Given the description of an element on the screen output the (x, y) to click on. 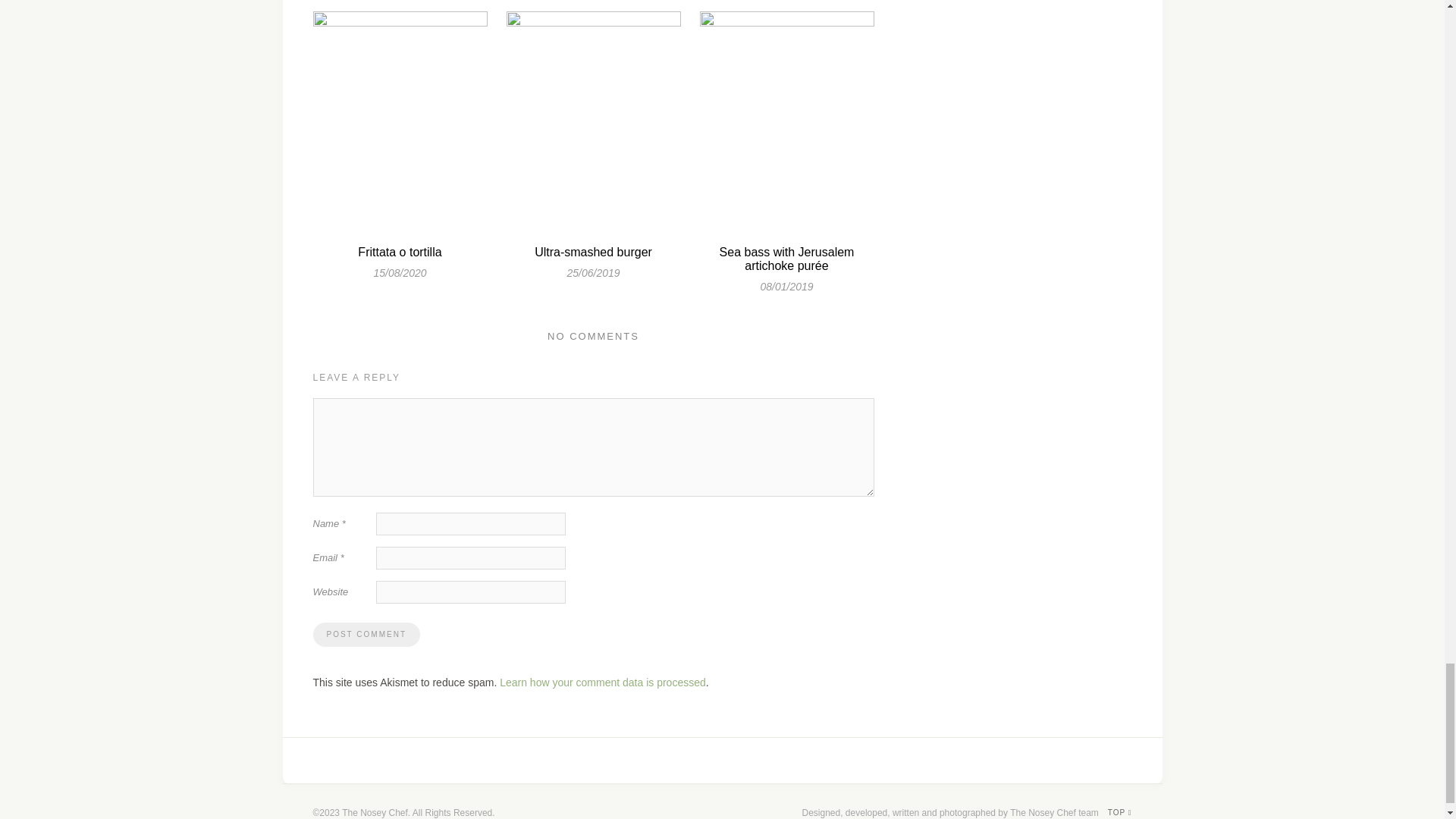
Learn how your comment data is processed (602, 682)
Ultra-smashed burger (593, 251)
Post Comment (366, 634)
Frittata o tortilla (399, 251)
Post Comment (366, 634)
